Given the description of an element on the screen output the (x, y) to click on. 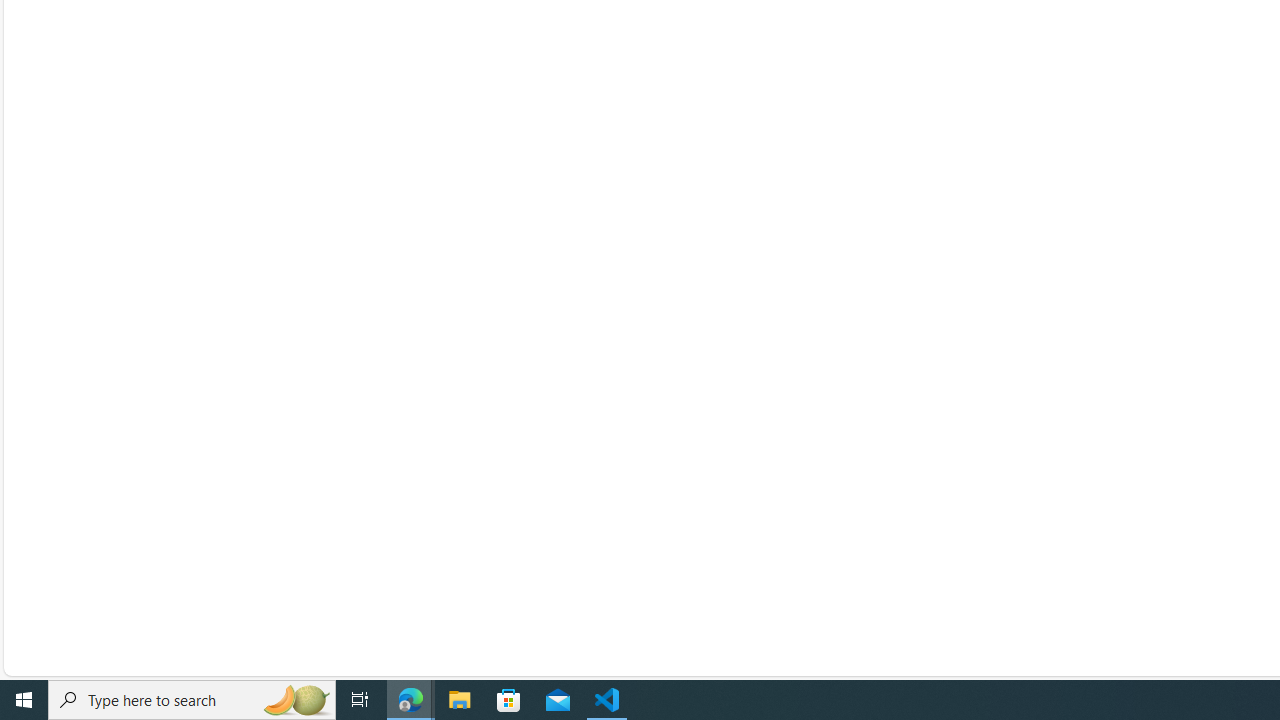
Returns Microsoft Store (756, 436)
Windows 11 apps (587, 564)
Surface Laptop Studio 2 (587, 404)
Microsoft Store support Microsoft Store (795, 403)
Microsoft Copilot What's new (502, 467)
Windows 11 apps What's new (502, 564)
Explore Microsoft products What's new (525, 532)
Microsoft Copilot (587, 468)
Devices for education (1126, 372)
Deals for students and parents Education (1079, 532)
Download Center (859, 372)
Surface Laptop What's new (495, 372)
Surface Laptop Go 3 What's new (509, 436)
Explore Microsoft products (587, 532)
Microsoft Teams for Education Education (1078, 403)
